Given the description of an element on the screen output the (x, y) to click on. 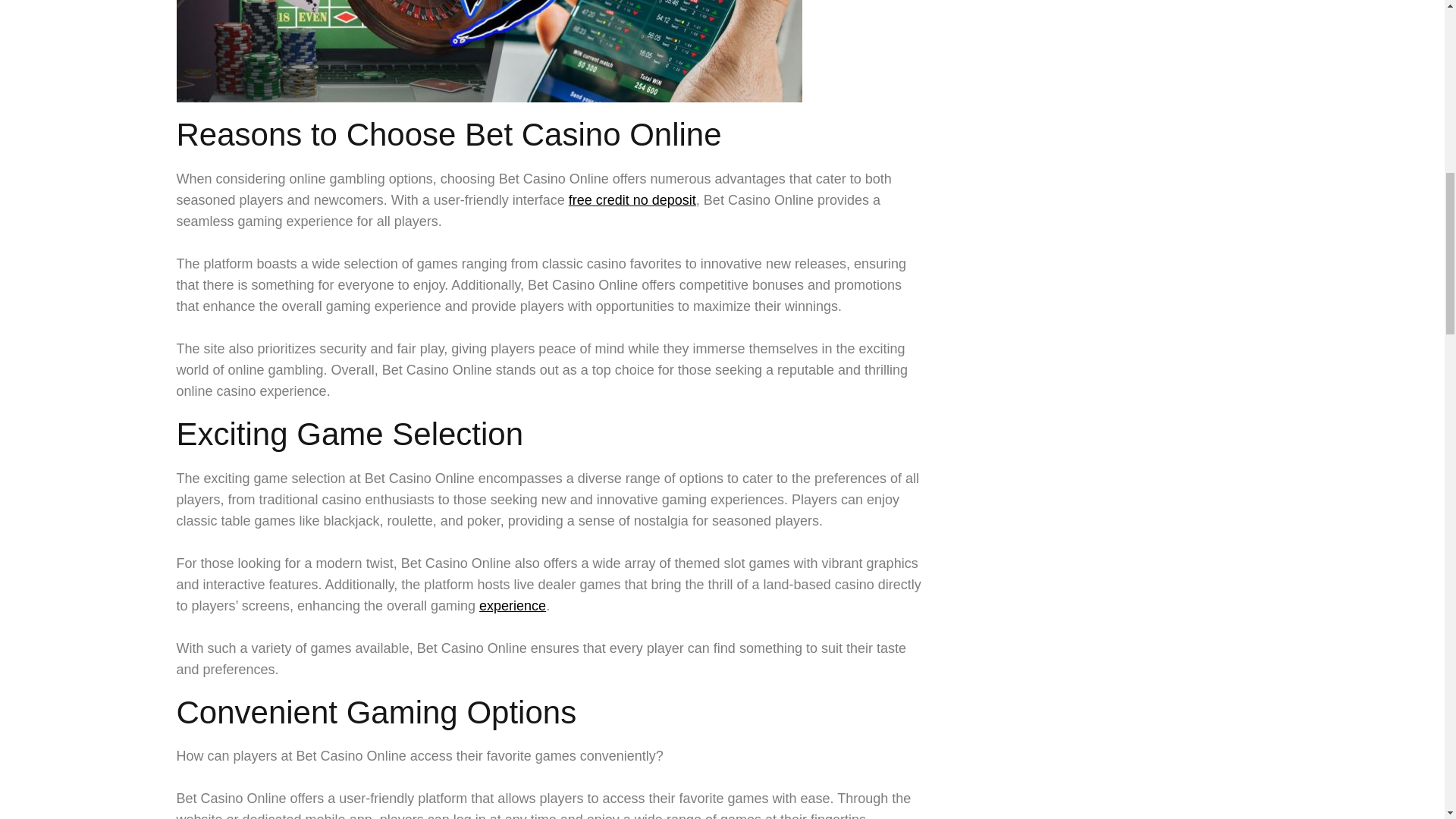
experience (512, 605)
free credit no deposit (632, 200)
